Given the description of an element on the screen output the (x, y) to click on. 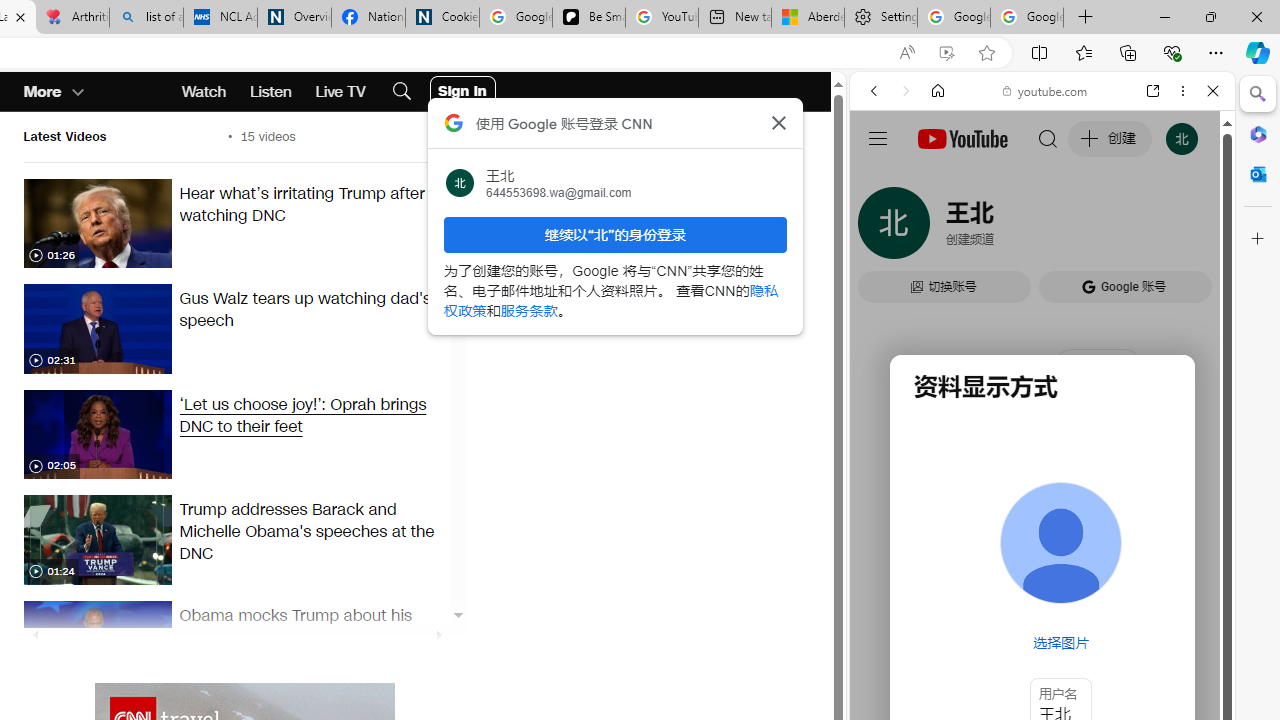
Class: icon-sig-video (34, 572)
